Given the description of an element on the screen output the (x, y) to click on. 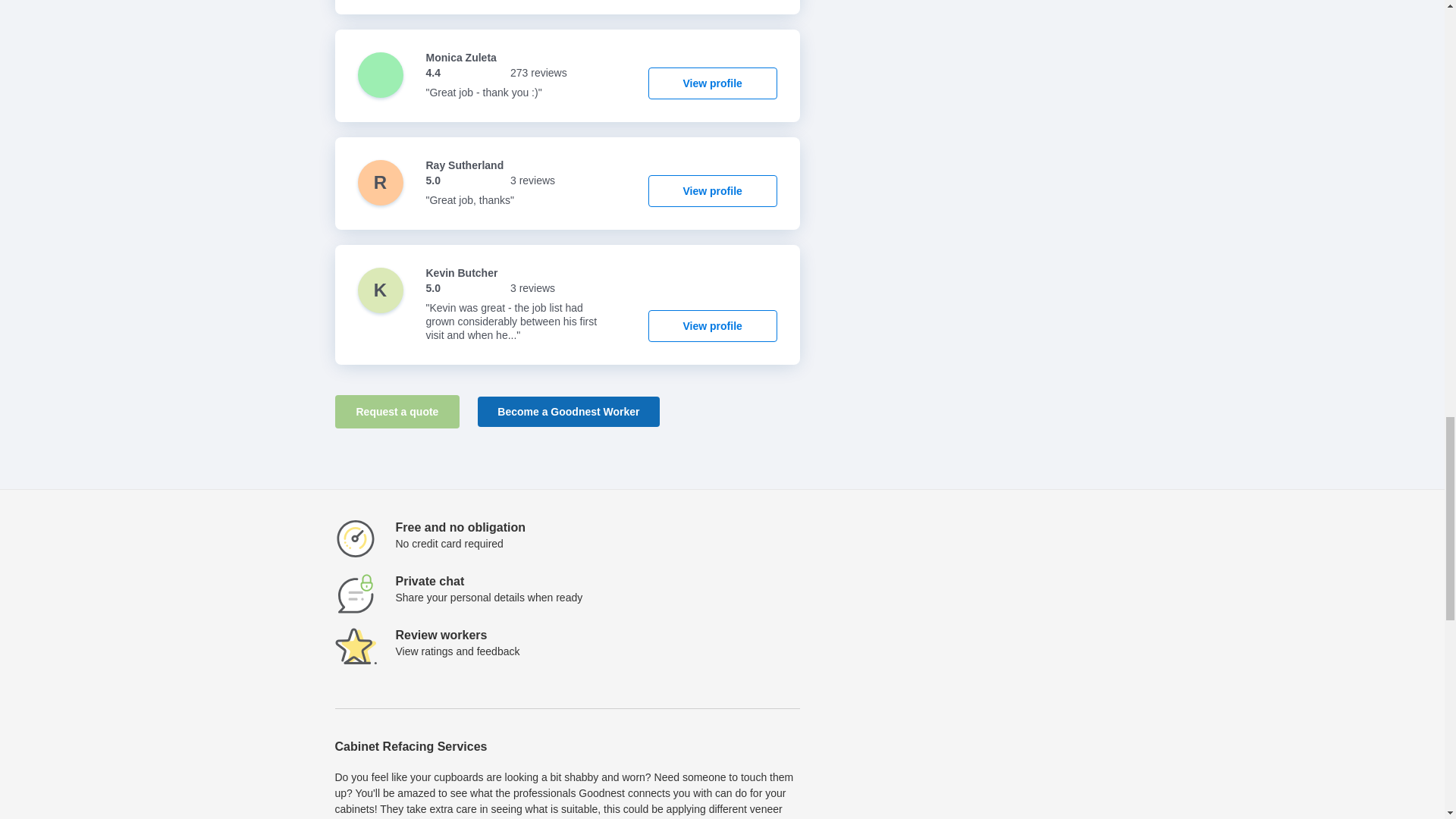
View profile (712, 326)
Become a Goodnest Worker (568, 411)
View profile (712, 191)
Request a quote (397, 411)
View profile (712, 83)
